Given the description of an element on the screen output the (x, y) to click on. 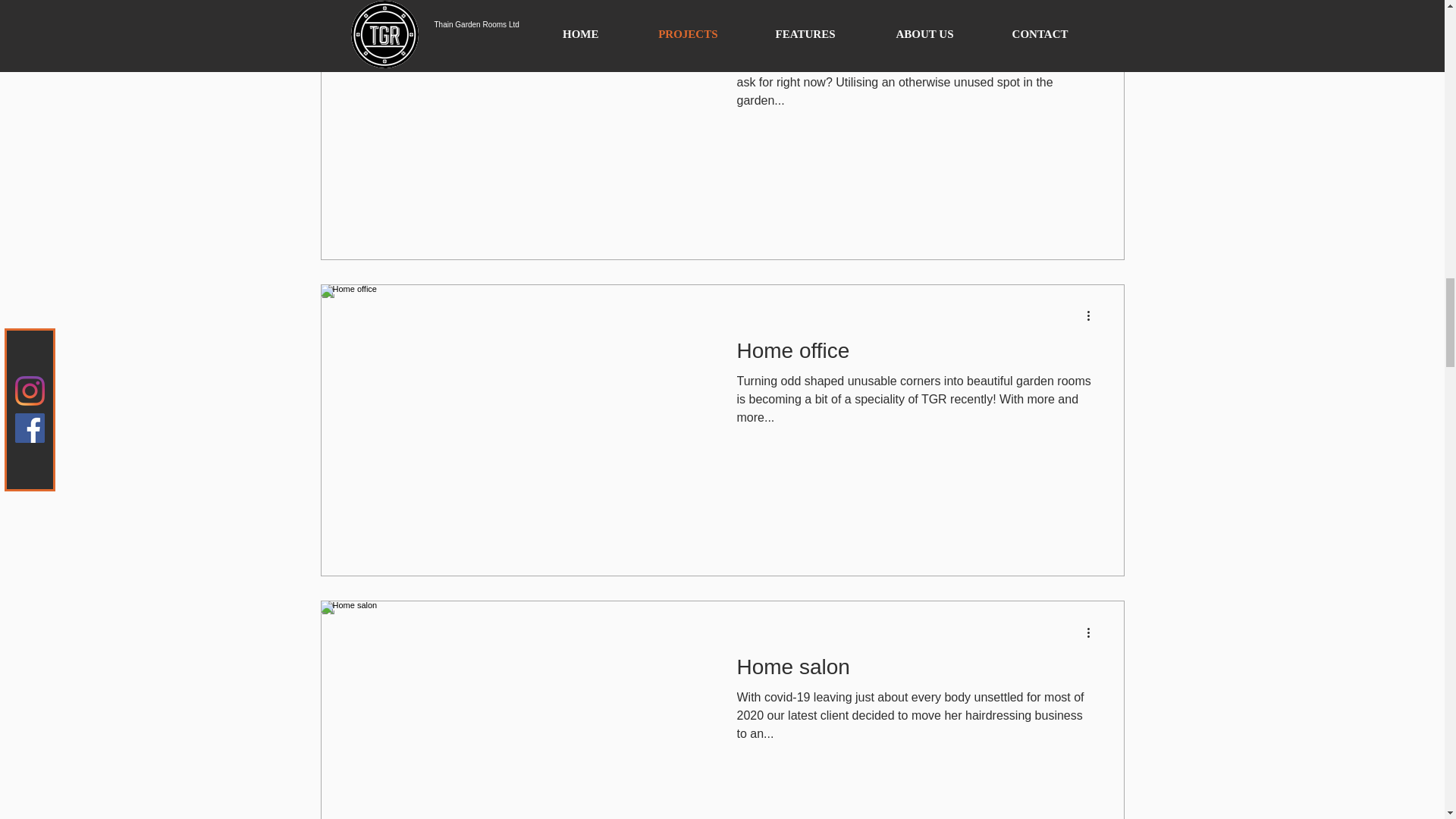
Home office and bar (916, 38)
Home salon (916, 671)
Home office (916, 355)
